Given the description of an element on the screen output the (x, y) to click on. 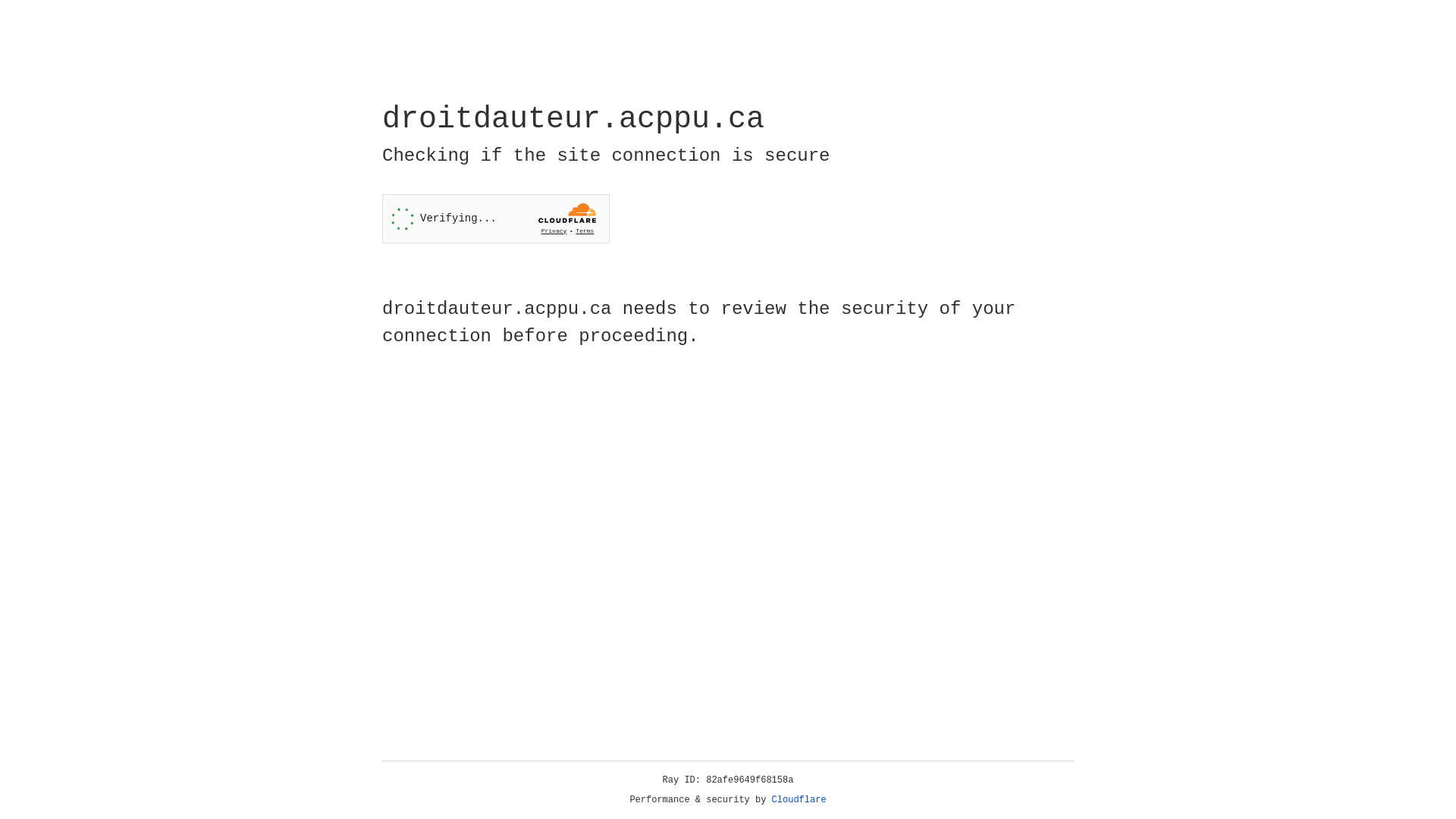
Cloudflare Element type: text (798, 799)
Widget containing a Cloudflare security challenge Element type: hover (495, 218)
